Given the description of an element on the screen output the (x, y) to click on. 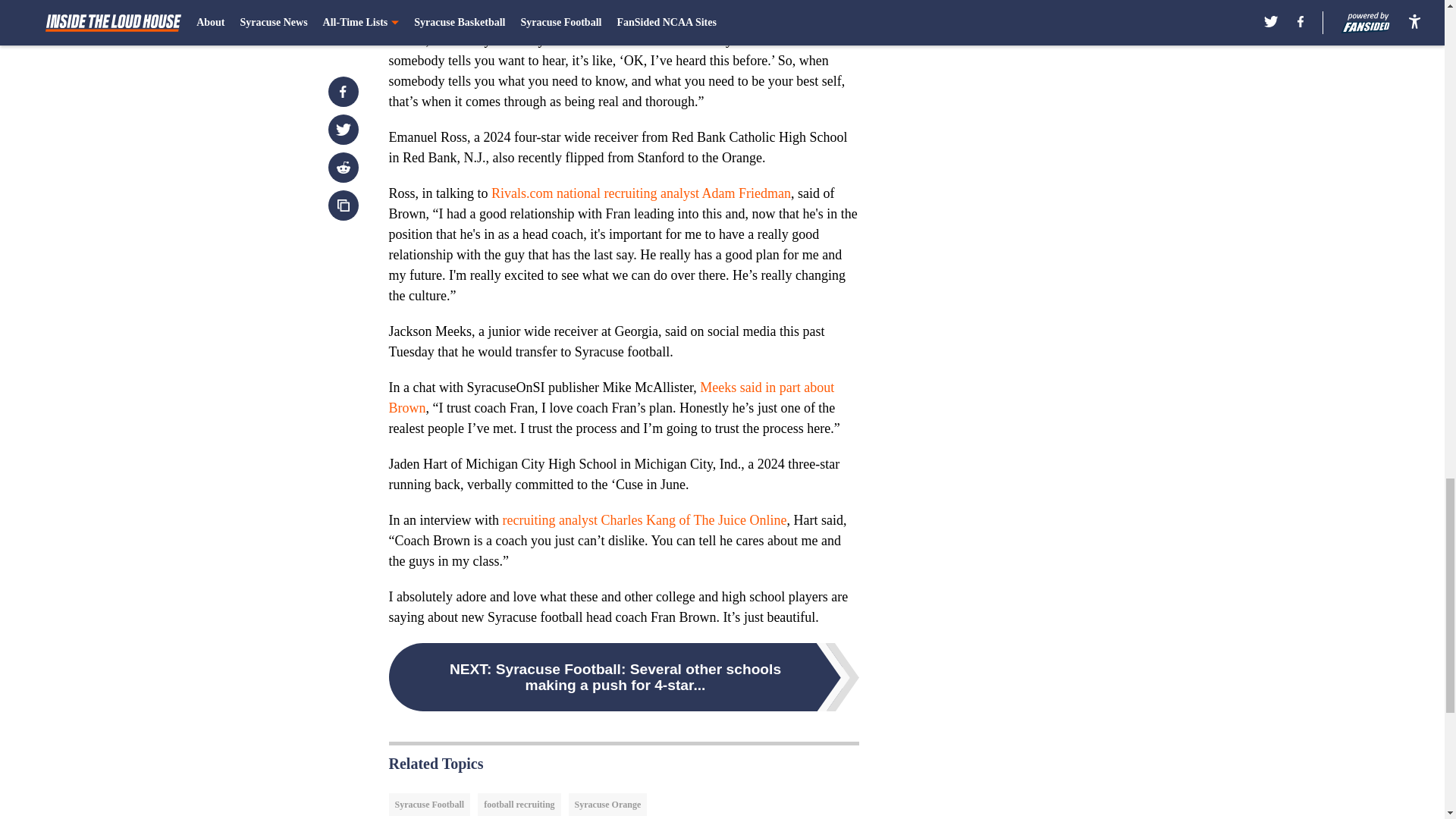
Syracuse Orange (608, 804)
Rivals.com national recruiting analyst Adam Friedman (641, 192)
Syracuse Football (429, 804)
Josh Crawford of SyracuseOnSI (590, 19)
Meeks said in part about Brown (611, 397)
football recruiting (518, 804)
recruiting analyst Charles Kang of The Juice Online (644, 519)
